Given the description of an element on the screen output the (x, y) to click on. 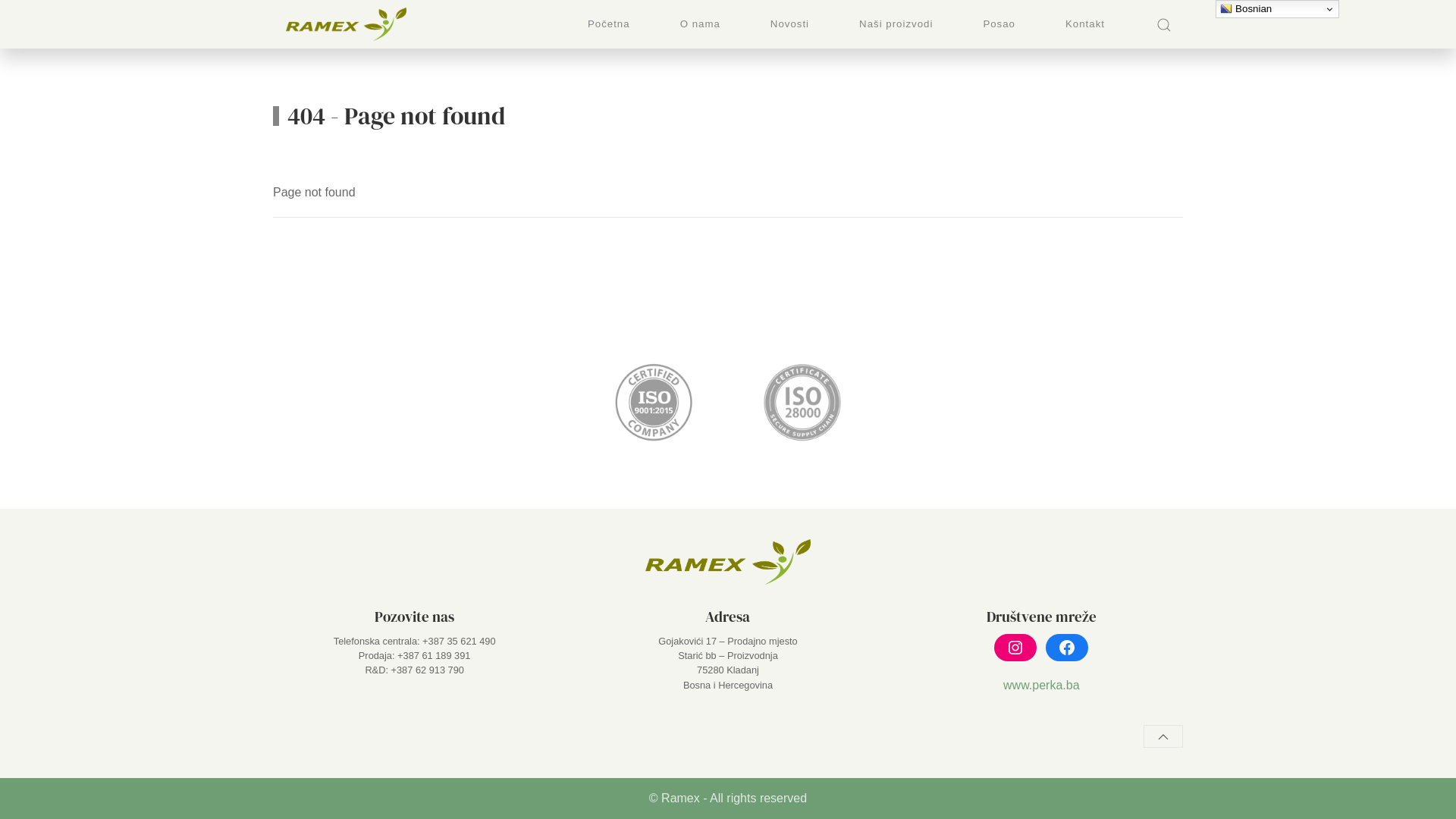
Posao Element type: text (999, 24)
Kontakt Element type: text (1084, 24)
O nama Element type: text (700, 24)
Facebook Element type: text (1066, 647)
Instagram Element type: text (1015, 647)
Bosnian Element type: text (1277, 9)
Novosti Element type: text (789, 24)
www.perka.ba Element type: text (1041, 684)
